Given the description of an element on the screen output the (x, y) to click on. 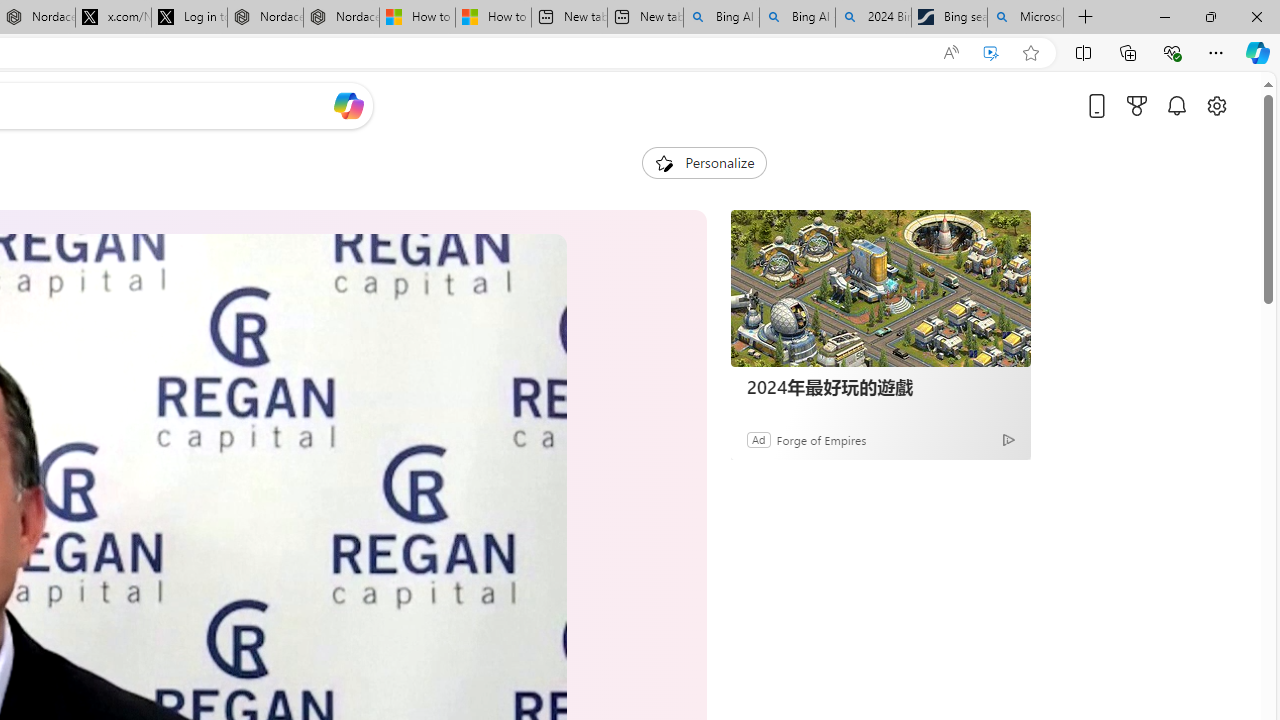
Forge of Empires (820, 439)
Log in to X / X (189, 17)
Personalize (703, 162)
